Given the description of an element on the screen output the (x, y) to click on. 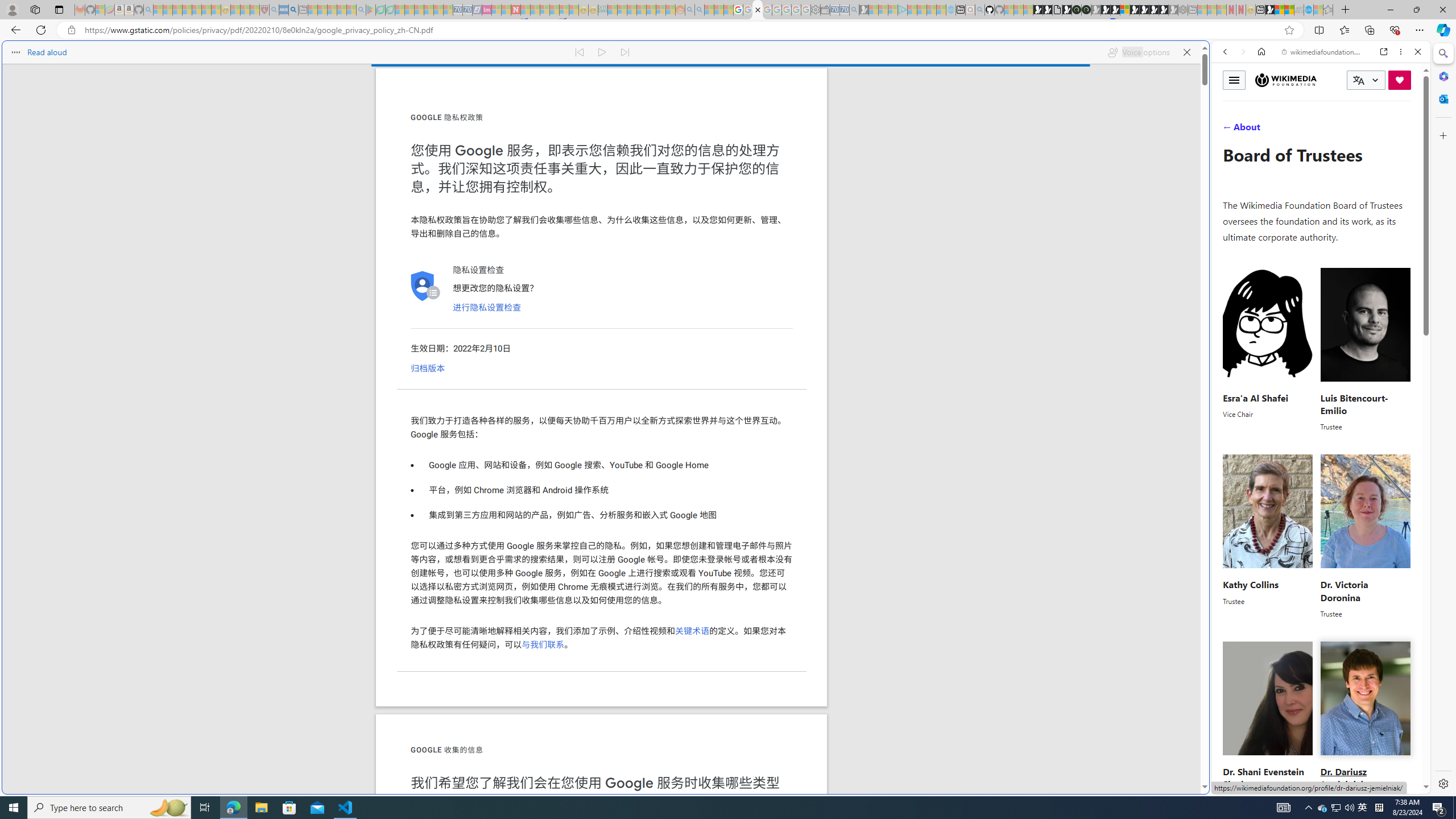
Wikimedia Foundation (1286, 79)
Class: i icon icon-translate language-switcher__icon (1358, 80)
Luis Bitencourt-Emilio (1354, 403)
Dr. Victoria Doronina (1343, 591)
